Given the description of an element on the screen output the (x, y) to click on. 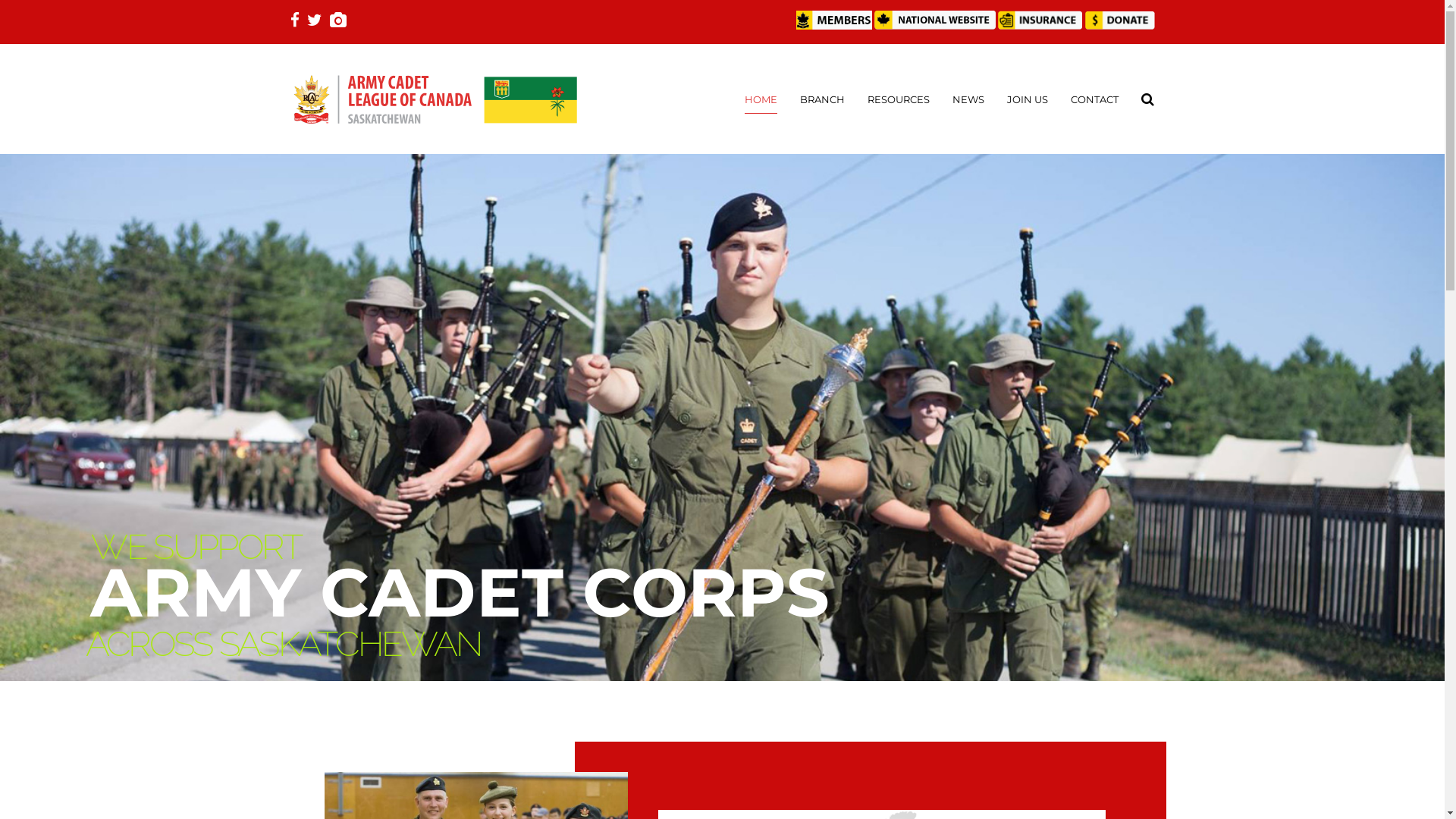
RESOURCES Element type: text (898, 98)
HOME Element type: text (760, 98)
CONTACT Element type: text (1094, 98)
NEWS Element type: text (968, 98)
BRANCH Element type: text (821, 98)
JOIN US Element type: text (1027, 98)
